Given the description of an element on the screen output the (x, y) to click on. 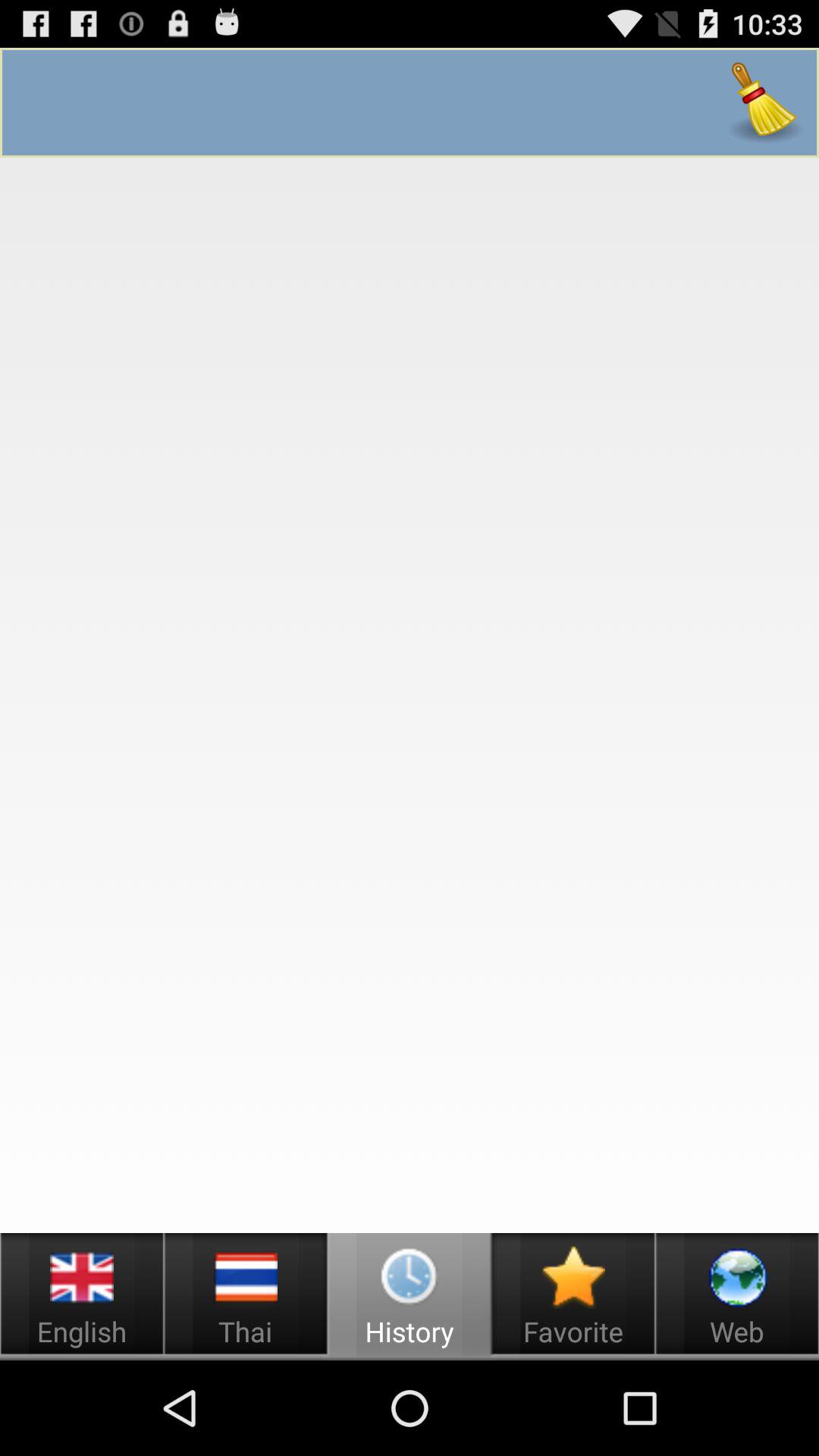
turn off icon at the top right corner (765, 102)
